Given the description of an element on the screen output the (x, y) to click on. 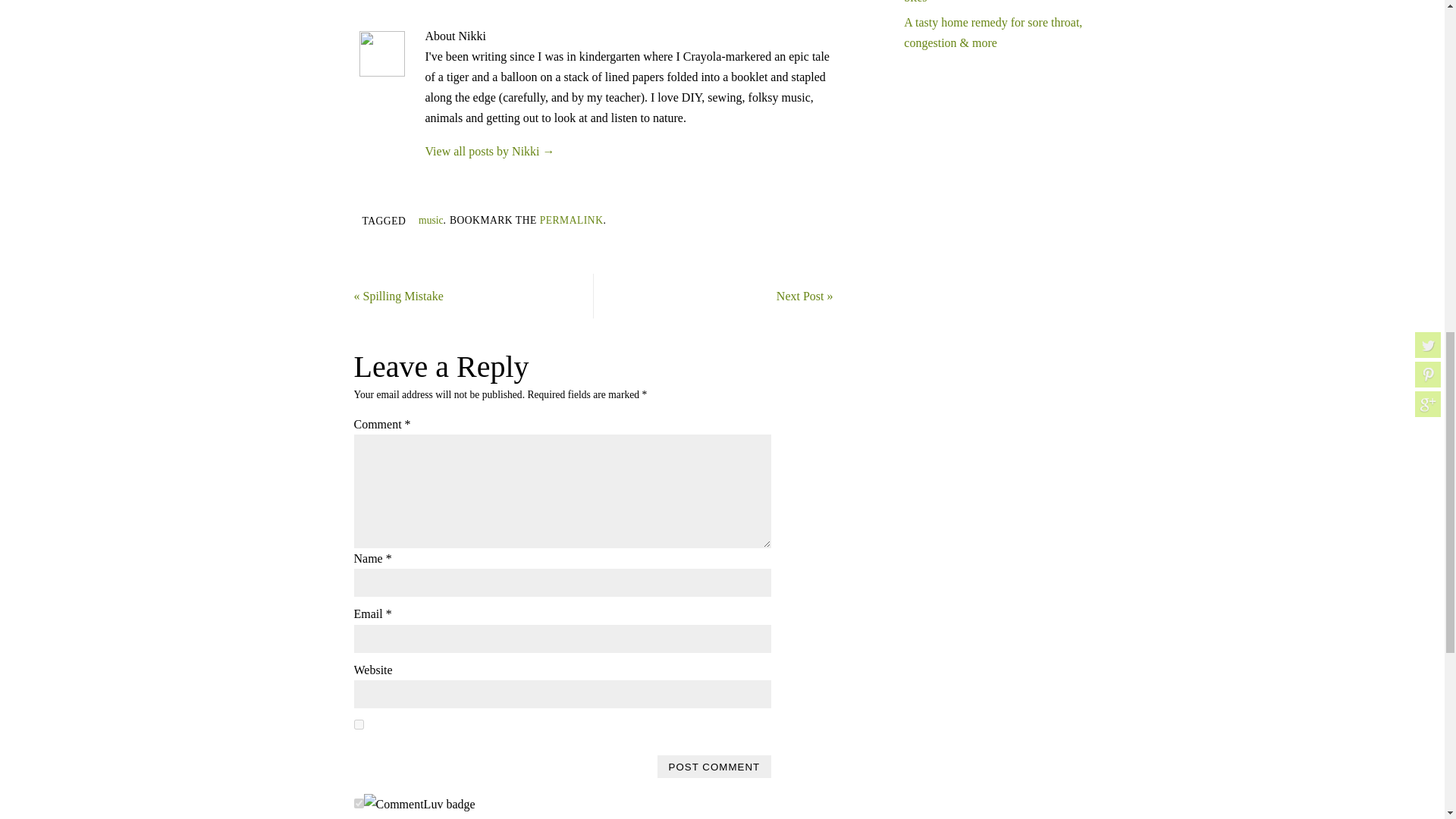
Post Comment (714, 766)
PERMALINK (572, 220)
on (357, 803)
1 (357, 724)
music (430, 220)
